Given the description of an element on the screen output the (x, y) to click on. 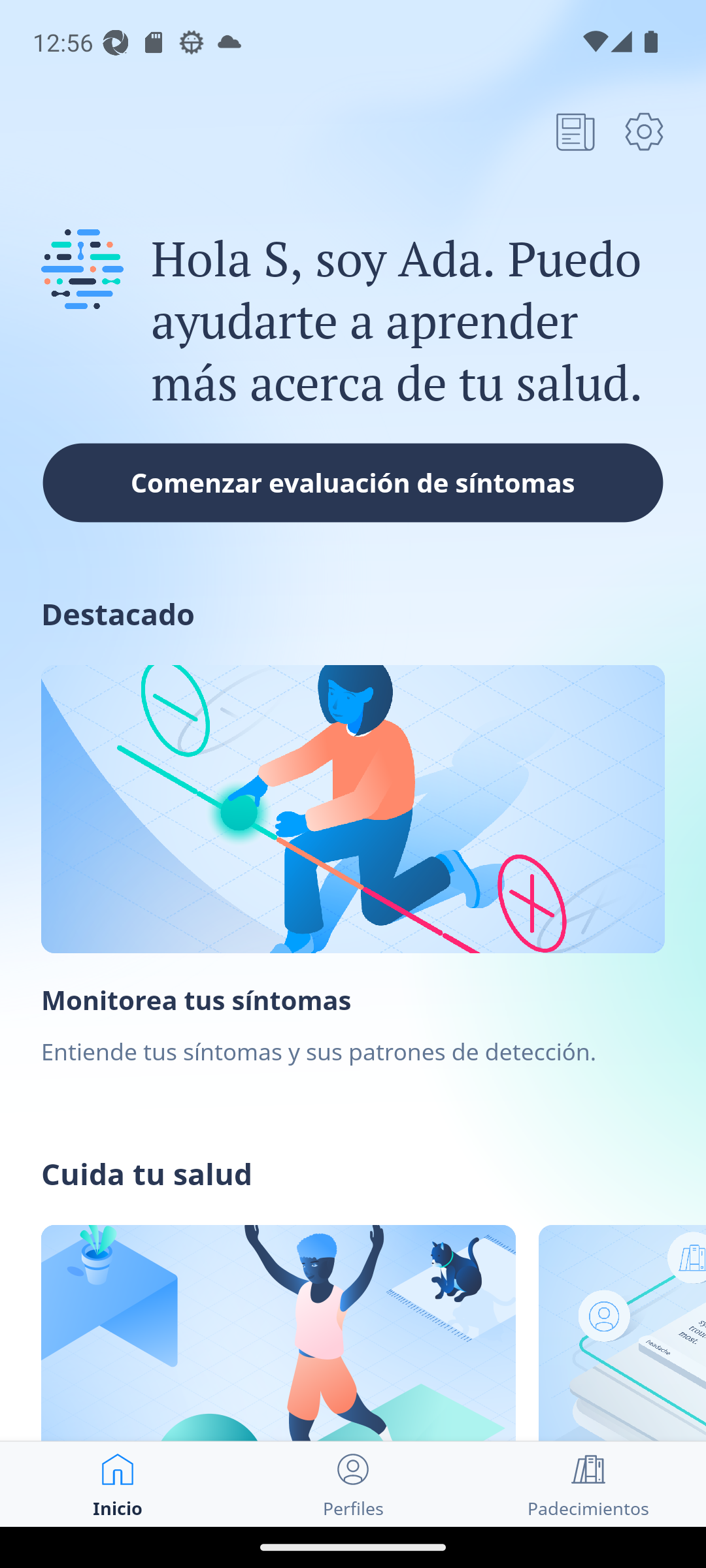
article icon , open articles (574, 131)
settings icon, open settings (644, 131)
Comenzar evaluación de síntomas (352, 482)
Inicio (117, 1484)
Perfiles (352, 1484)
Padecimientos (588, 1484)
